Given the description of an element on the screen output the (x, y) to click on. 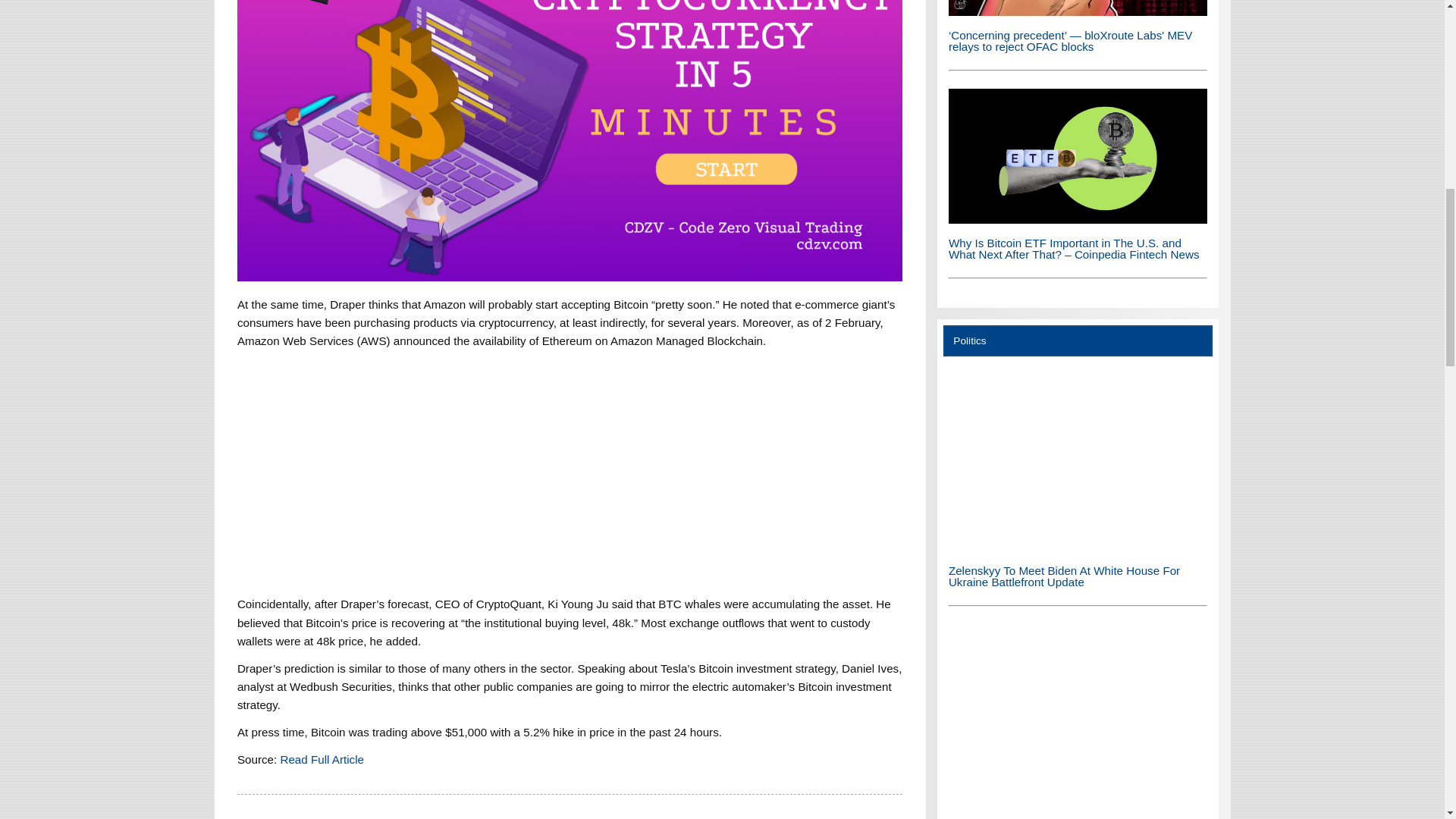
Read Full Article (321, 758)
